Given the description of an element on the screen output the (x, y) to click on. 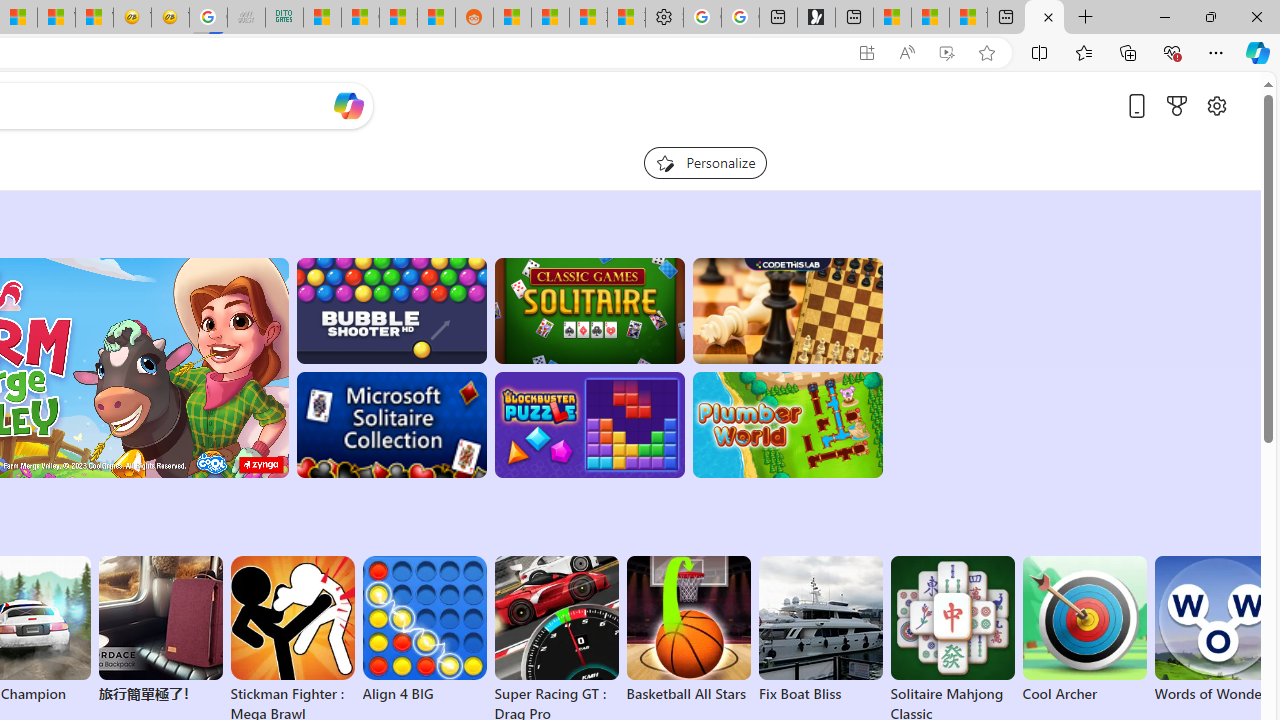
App available. Install Games from Microsoft Start (867, 53)
Microsoft Solitaire Collection (390, 425)
Bubble Shooter HD (390, 310)
Classic Solitaire (589, 310)
MSN (436, 17)
Words of Wonders (1216, 629)
R******* | Trusted Community Engagement and Contributions (512, 17)
